Given the description of an element on the screen output the (x, y) to click on. 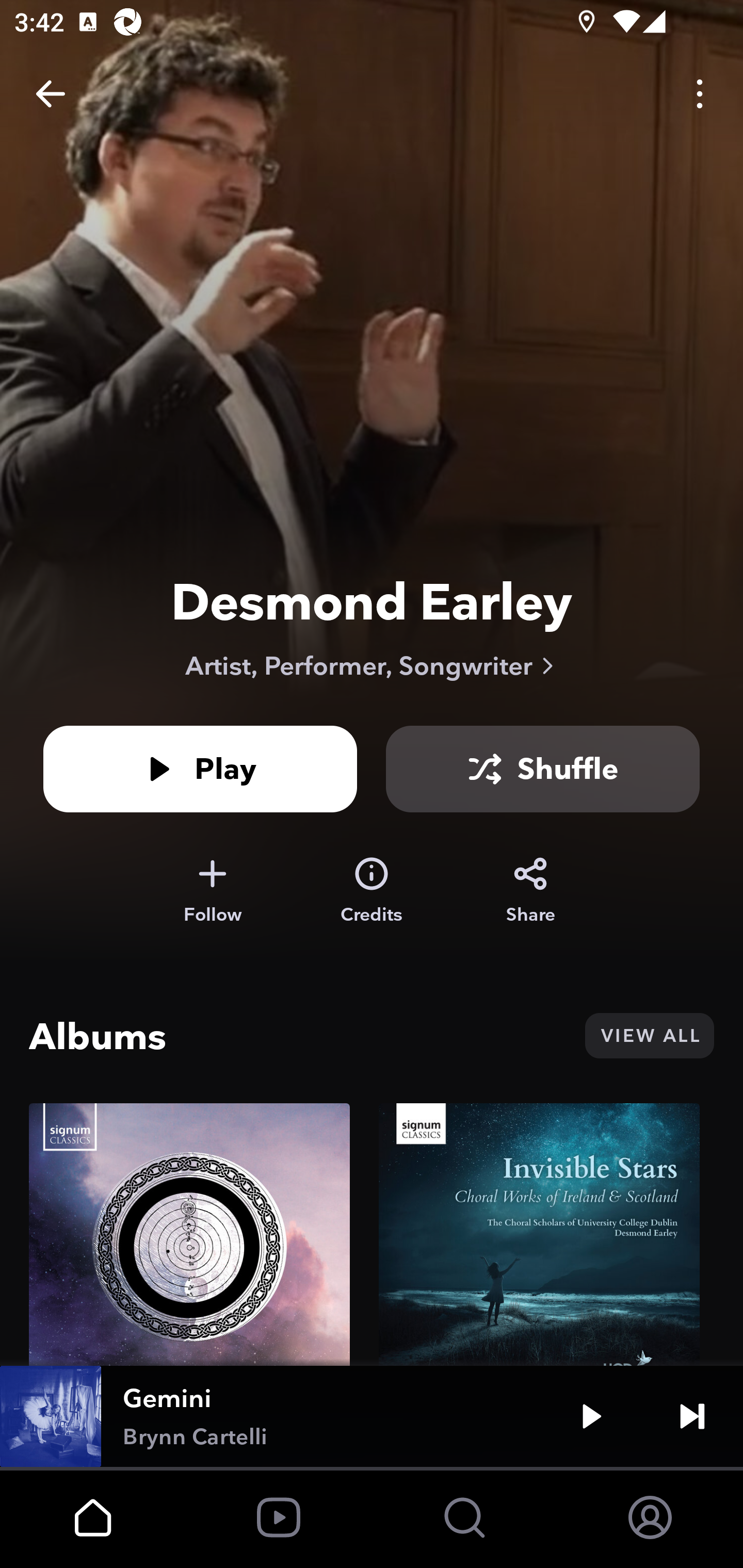
Options (699, 93)
Artist, Performer, Songwriter (371, 665)
Play (200, 768)
Shuffle (542, 768)
Follow (211, 890)
Credits (371, 890)
Share (530, 890)
VIEW ALL (649, 1035)
Gemini Brynn Cartelli Play (371, 1416)
Play (590, 1416)
